Given the description of an element on the screen output the (x, y) to click on. 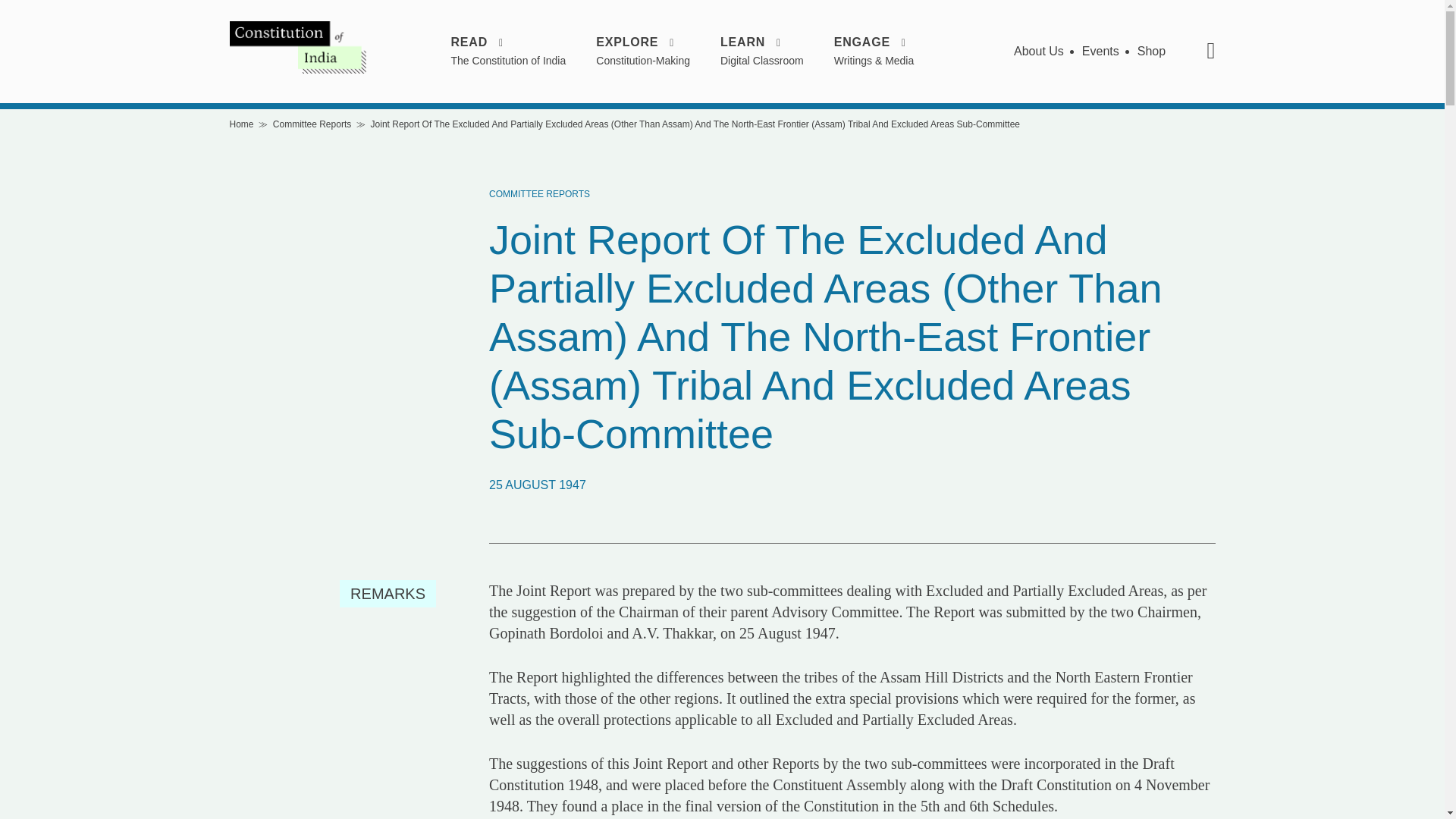
ENGAGE (874, 42)
Shop (1151, 51)
EXPLORE (642, 42)
Committee Reports (311, 123)
READ (507, 42)
Home (240, 123)
About Us (1038, 51)
LEARN (761, 42)
Events (1100, 51)
